Given the description of an element on the screen output the (x, y) to click on. 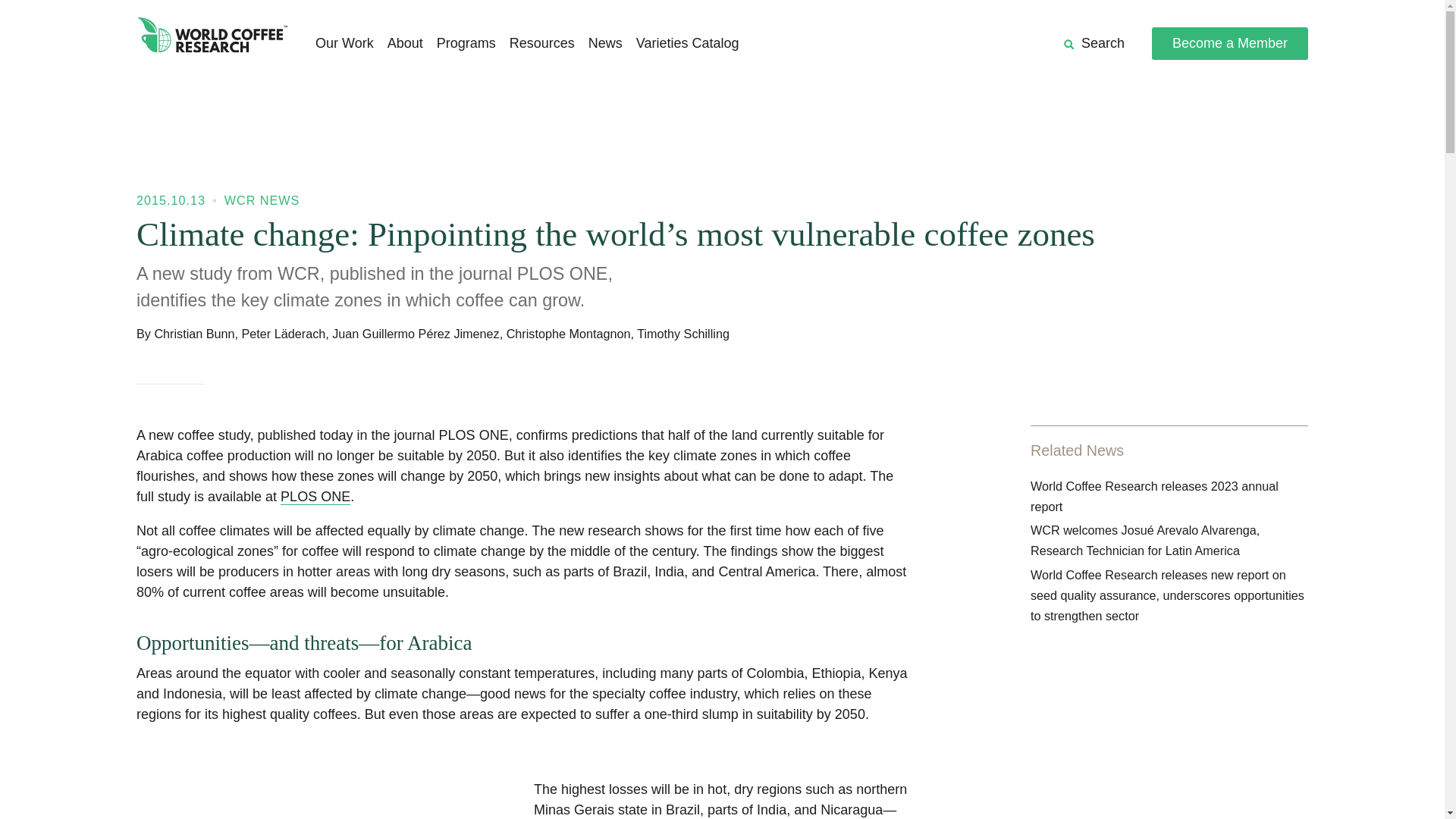
News (605, 43)
World Coffee Research releases 2023 annual report (1154, 496)
Become a Member (1229, 43)
Programs (466, 43)
Varieties Catalog (687, 43)
About (405, 43)
PLOS ONE (315, 496)
Search (1094, 43)
Our Work (344, 43)
Resources (542, 43)
